Given the description of an element on the screen output the (x, y) to click on. 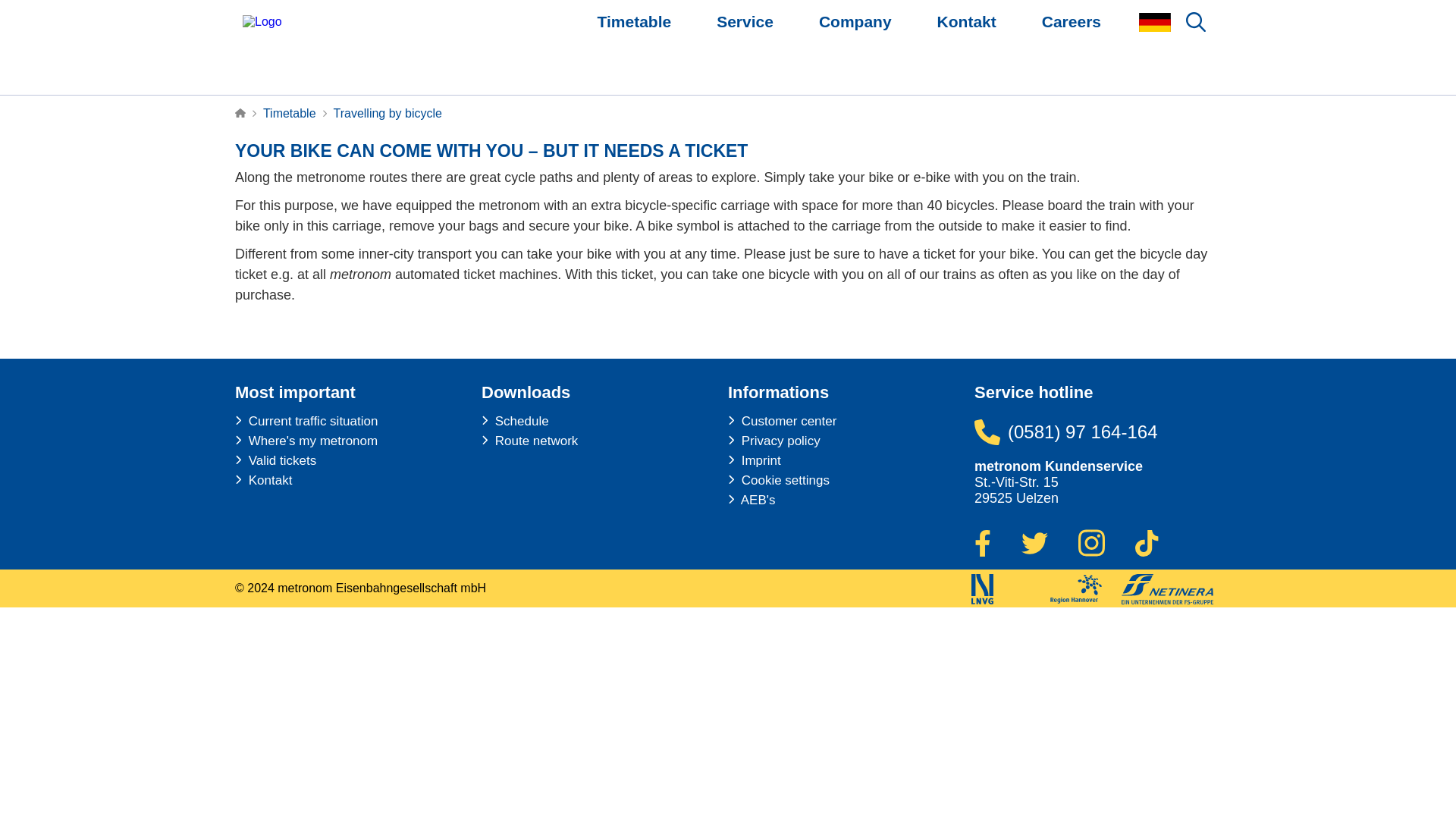
metronom (262, 21)
DE (1154, 21)
Current traffic situation (305, 421)
Kontakt (263, 480)
Schedule (514, 421)
Careers (1071, 21)
metronom (261, 22)
Where's my metronom (305, 441)
Service (745, 21)
Valid tickets (274, 460)
